Given the description of an element on the screen output the (x, y) to click on. 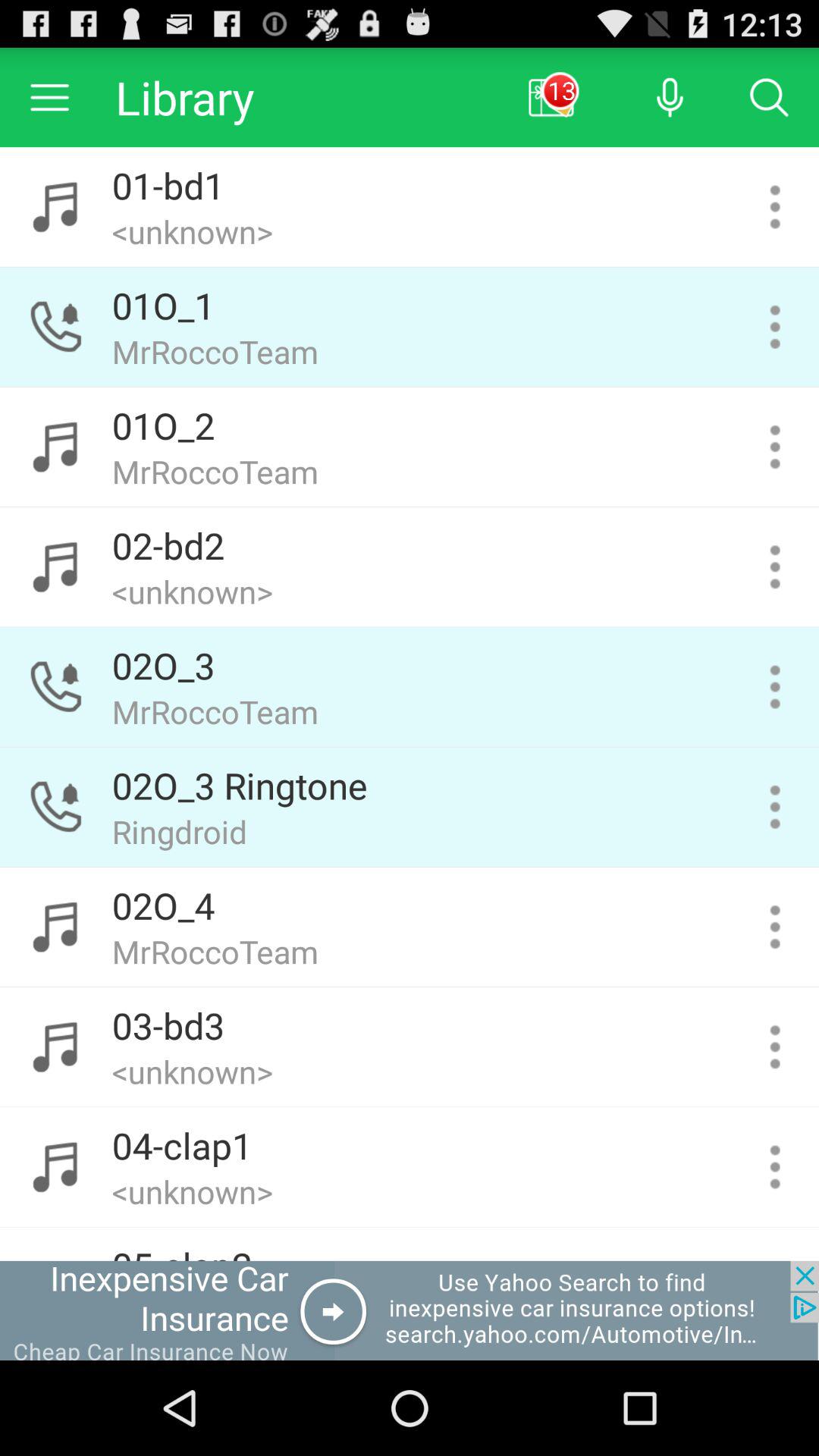
add music (775, 566)
